Given the description of an element on the screen output the (x, y) to click on. 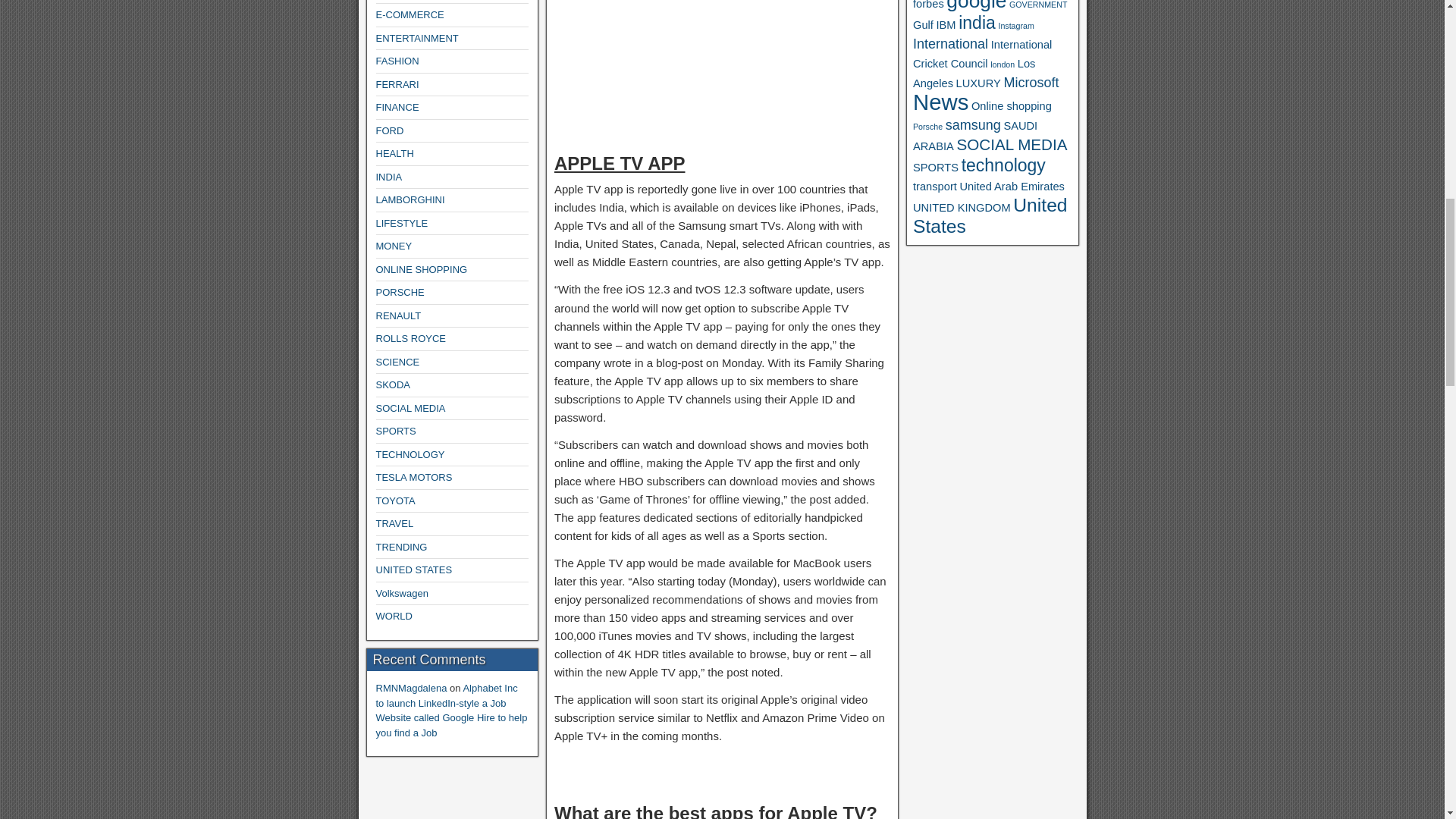
Advertisement (721, 67)
